Given the description of an element on the screen output the (x, y) to click on. 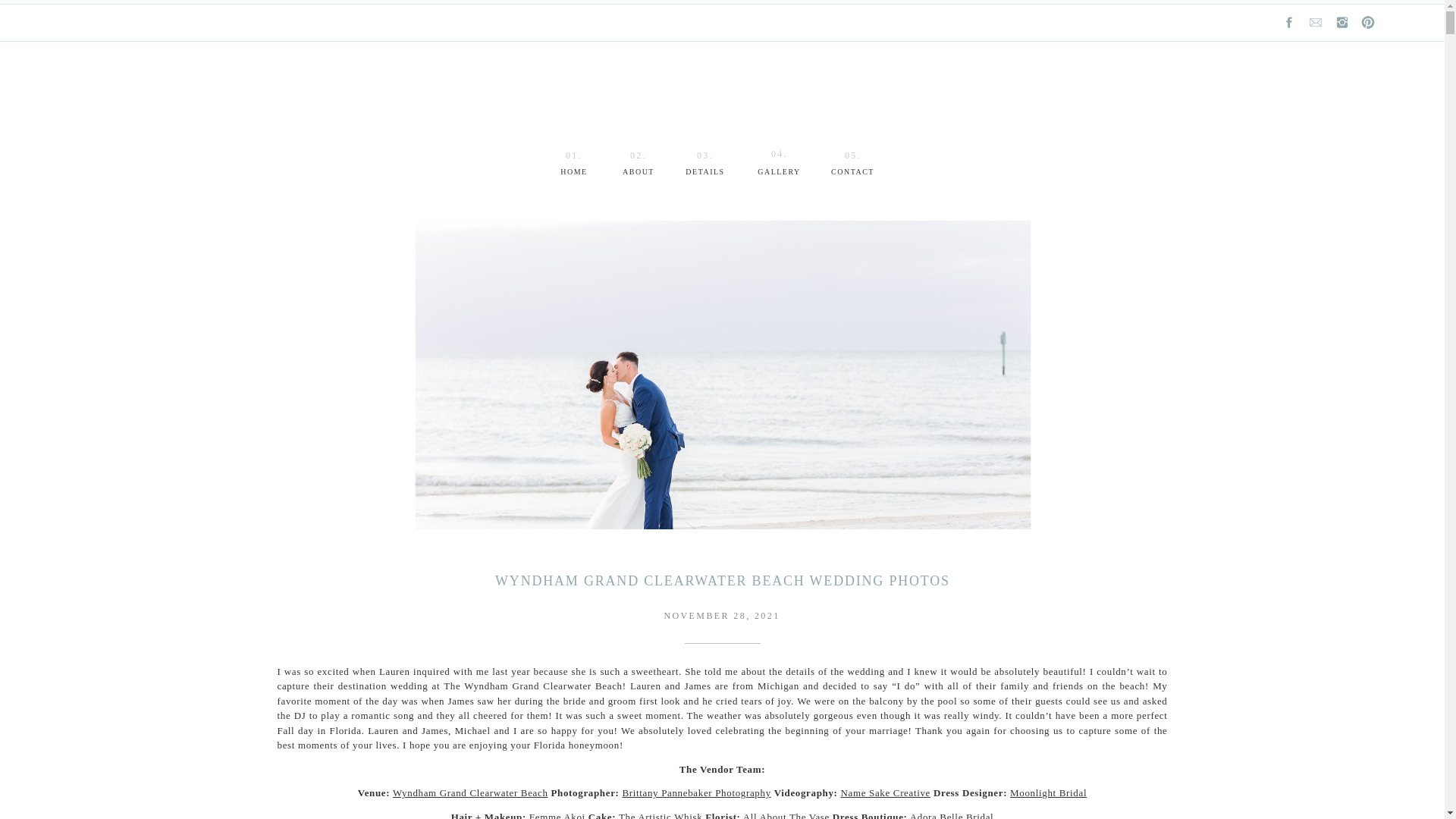
ABOUT (638, 172)
Femme Akoi (557, 815)
Brittany Pannebaker Photography (695, 792)
CONTACT (852, 172)
DETAILS (705, 172)
The Artistic Whisk (659, 815)
GALLERY (778, 172)
Wyndham Grand Clearwater Beach (470, 792)
Moonlight Bridal (1048, 792)
HOME (574, 172)
Name Sake Creative (885, 792)
